Given the description of an element on the screen output the (x, y) to click on. 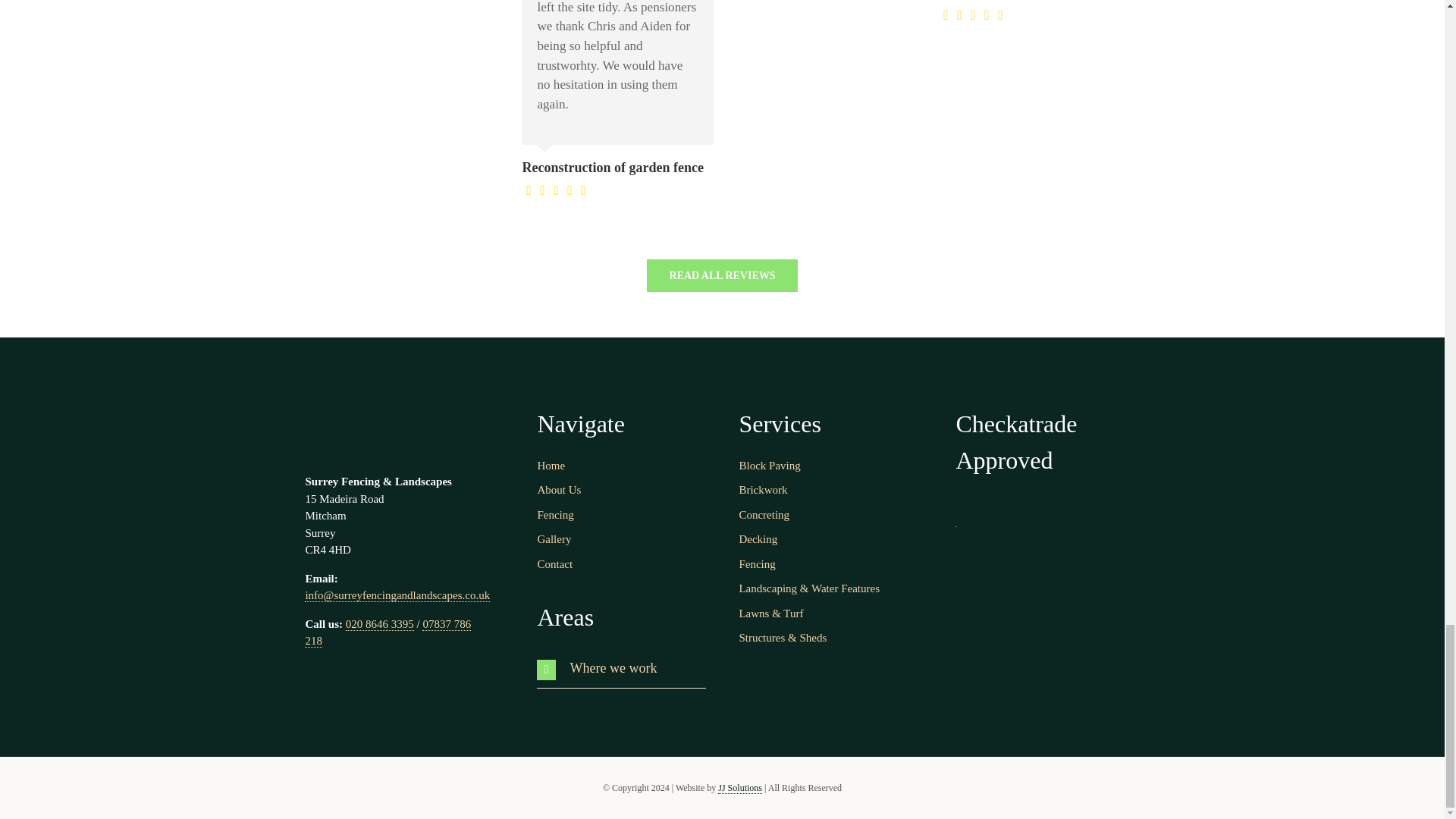
logo-white (395, 424)
